Given the description of an element on the screen output the (x, y) to click on. 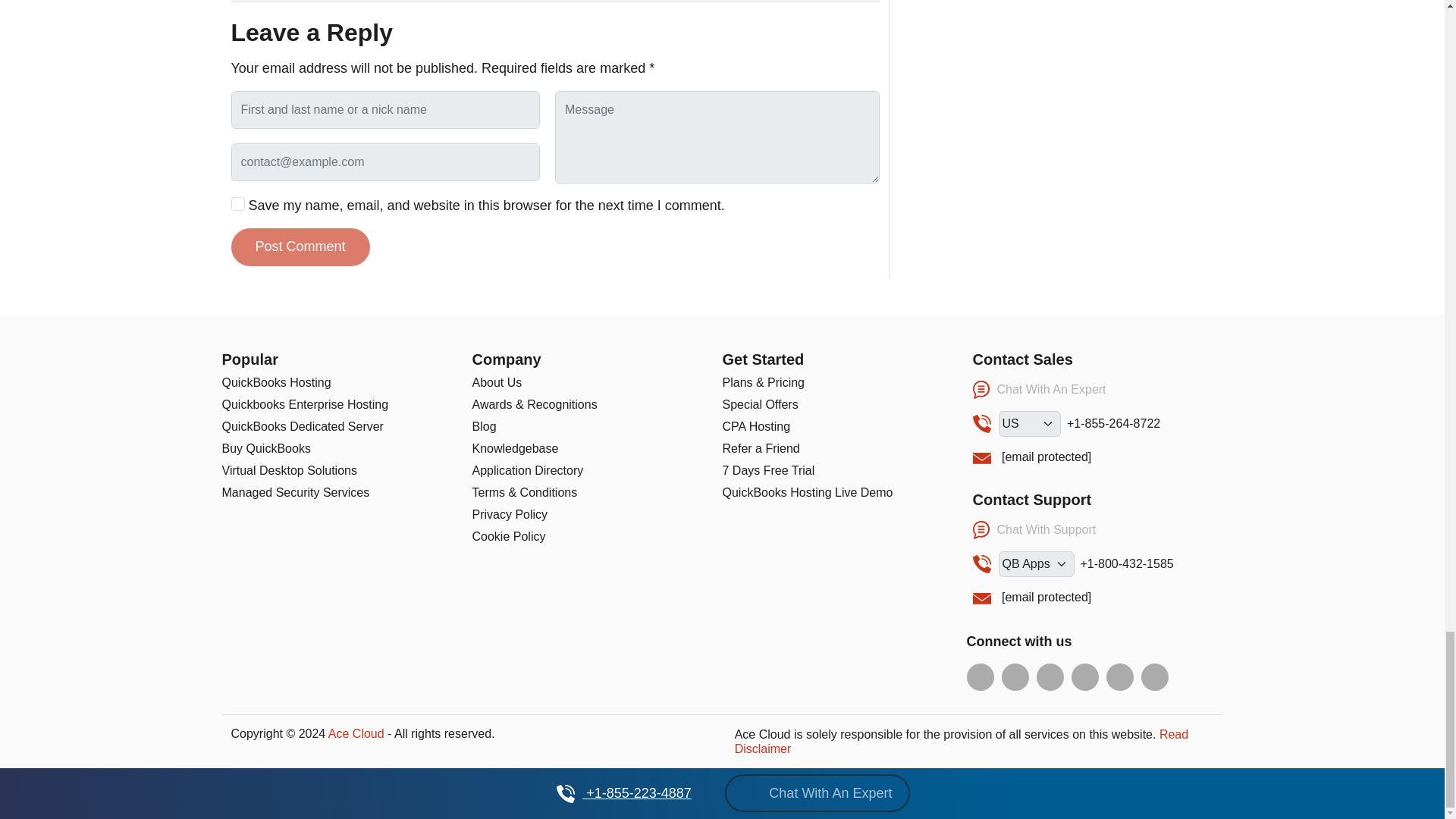
Post Comment (299, 247)
yes (237, 203)
